Given the description of an element on the screen output the (x, y) to click on. 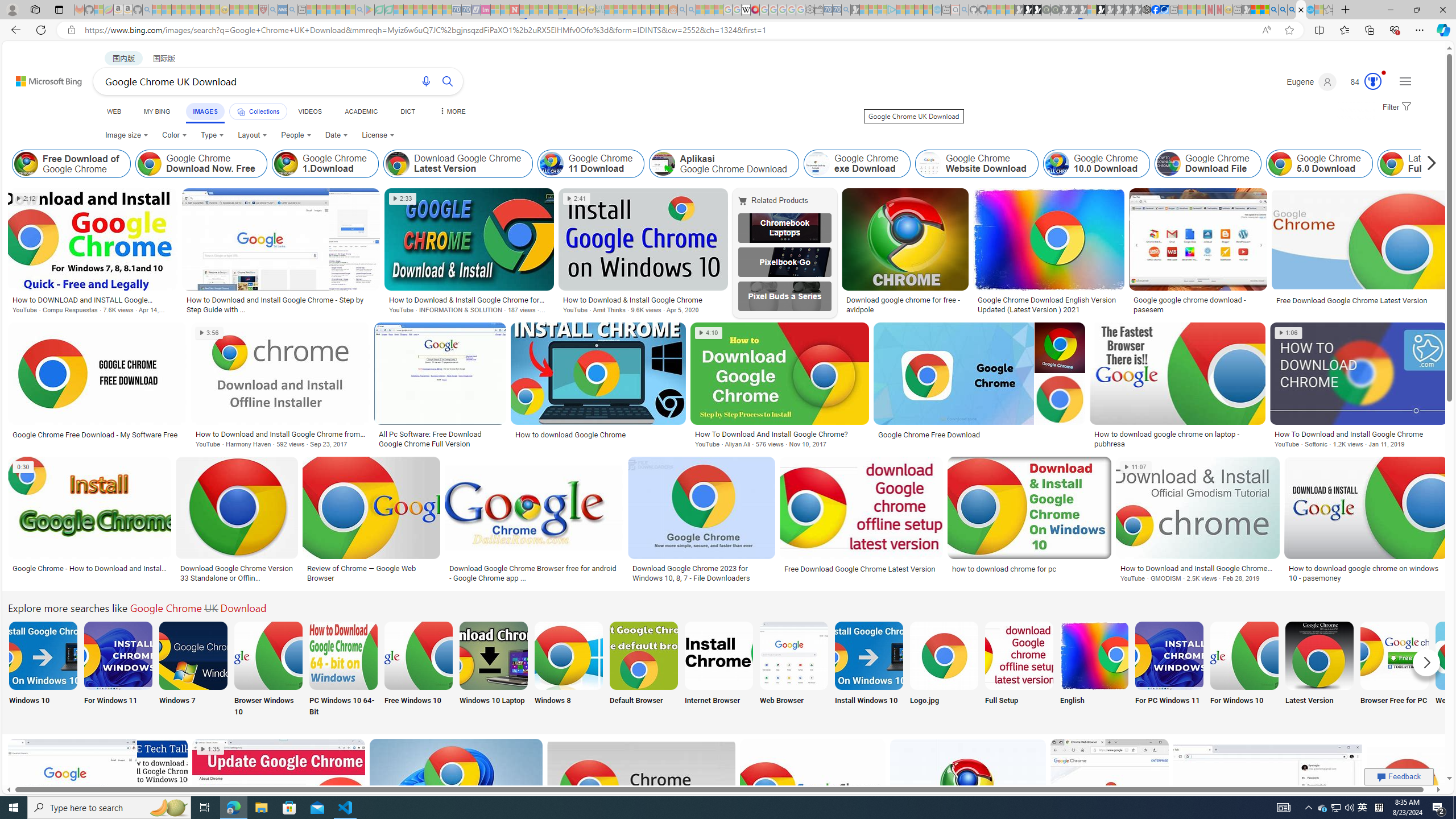
Google Chrome Download Windows 8 (568, 654)
how to download chrome for pcSave (1031, 521)
Aplikasi Google Chrome Download (662, 163)
How to download google chrome on windows 10 - pasemoney (1365, 573)
Google Chrome 11 Download (591, 163)
Google Chrome - How to Download and Install Google Chrome (89, 568)
